Given the description of an element on the screen output the (x, y) to click on. 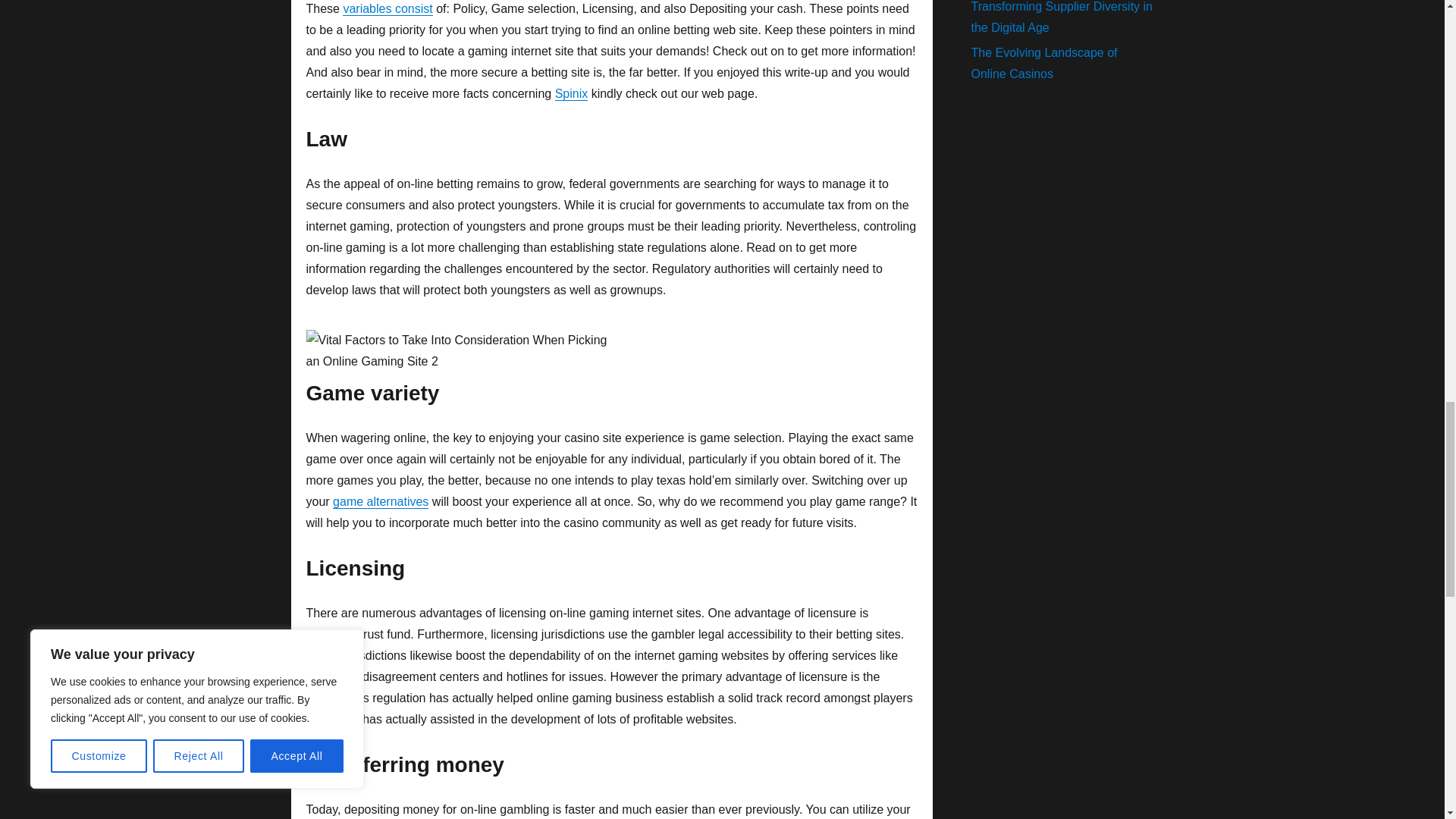
game alternatives (380, 501)
Spinix (571, 92)
variables consist (387, 8)
